Given the description of an element on the screen output the (x, y) to click on. 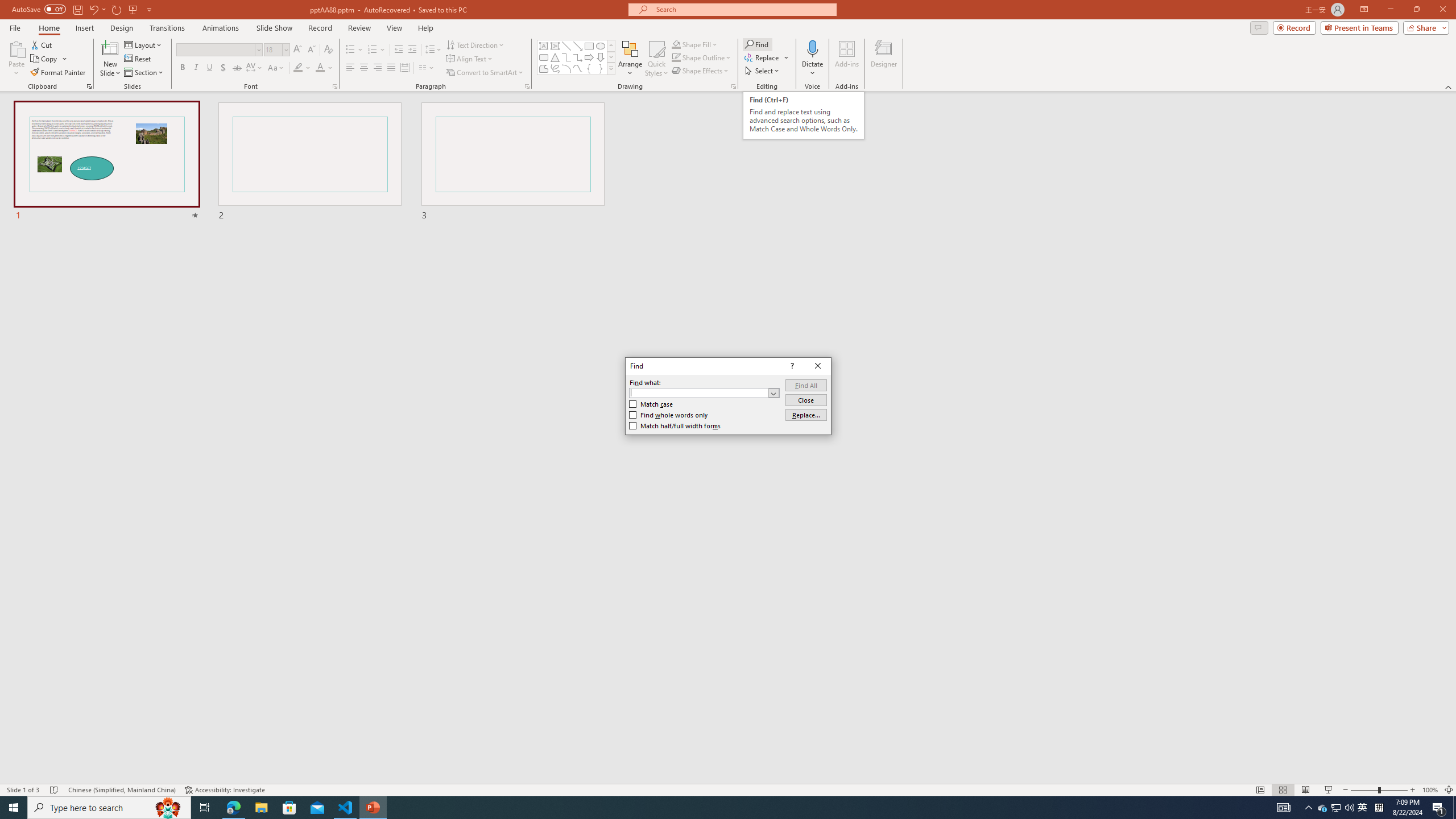
Action Center, 1 new notification (1439, 807)
